Given the description of an element on the screen output the (x, y) to click on. 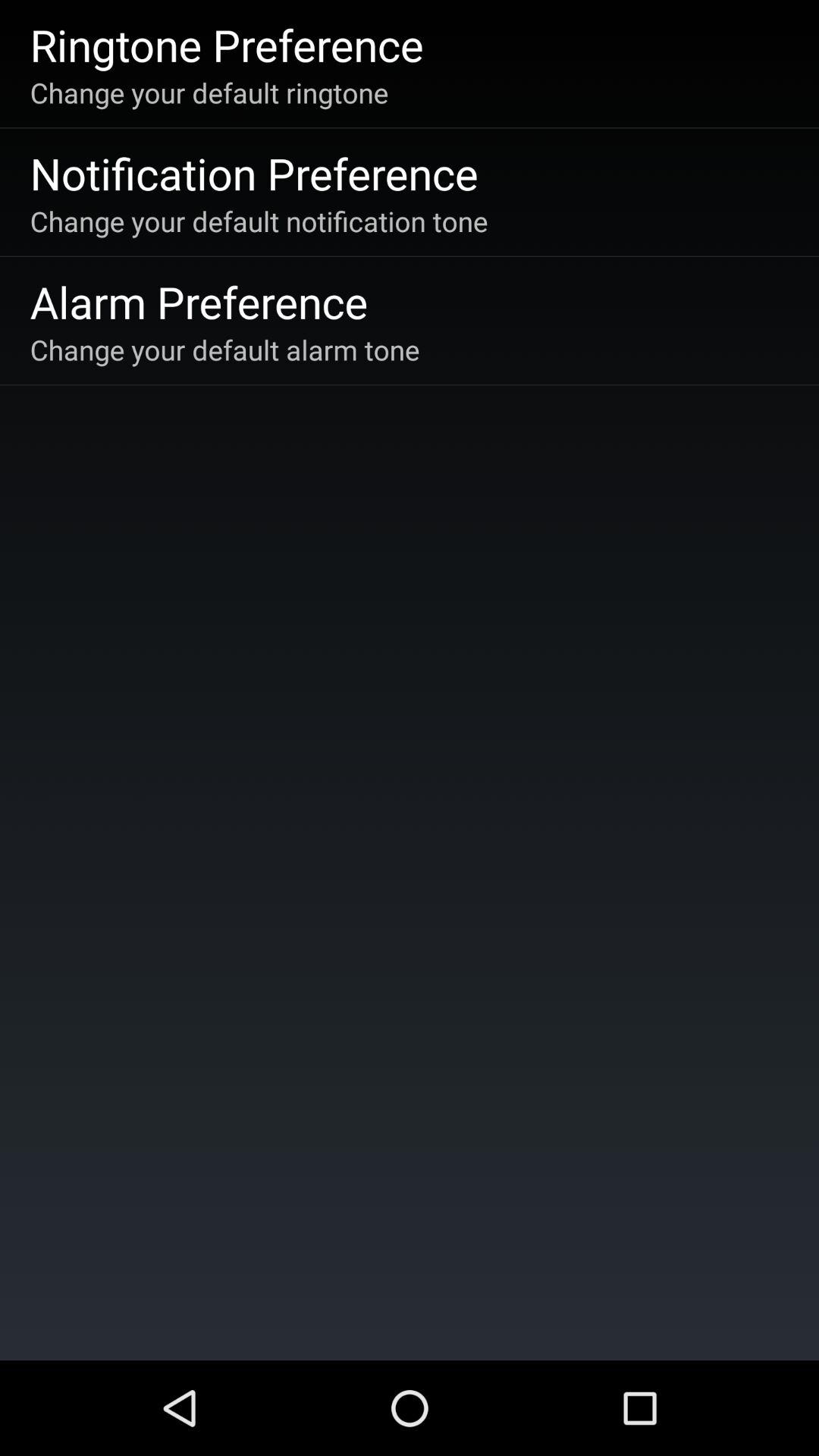
turn on the app above the change your default item (198, 301)
